Given the description of an element on the screen output the (x, y) to click on. 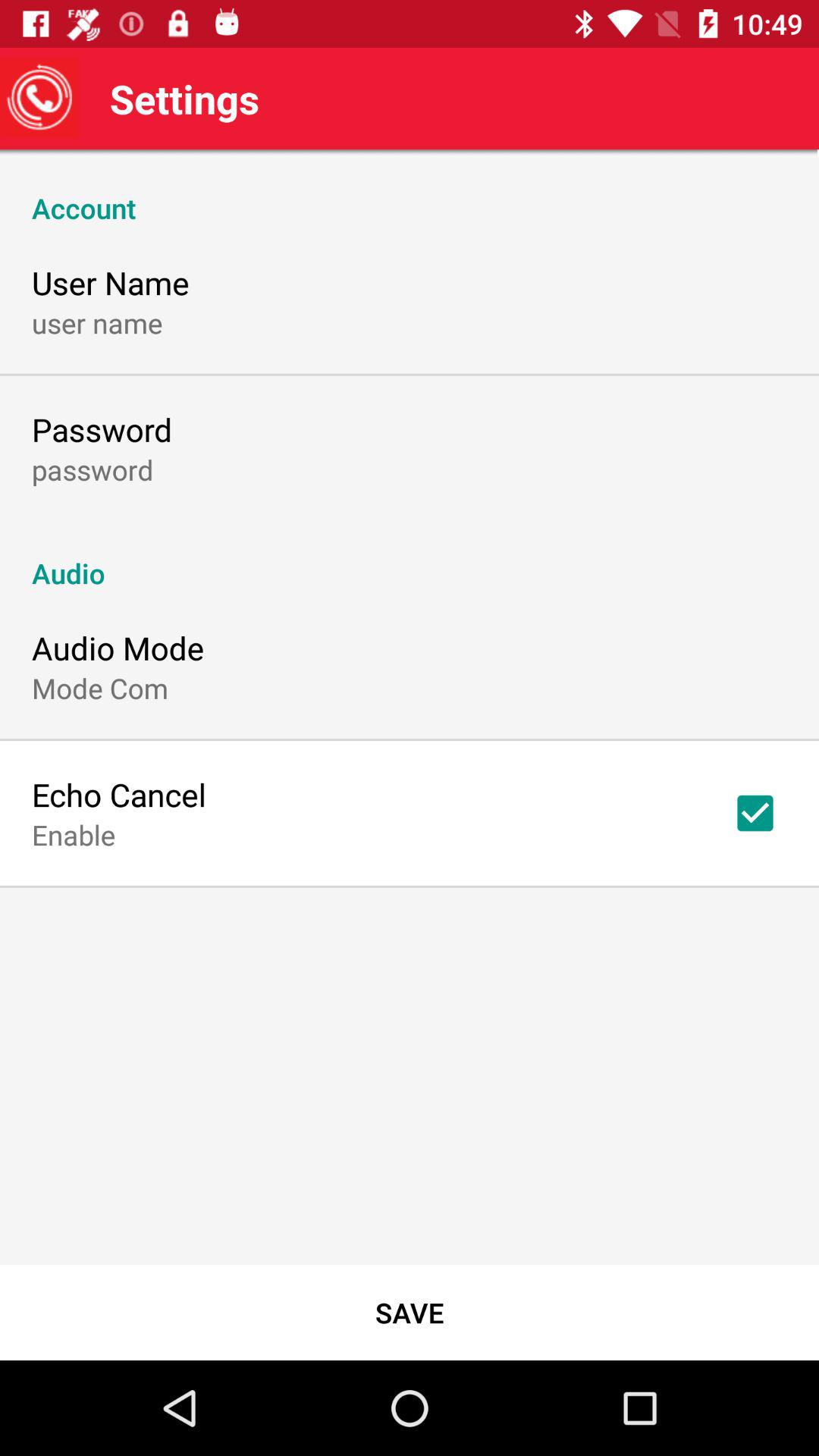
press echo cancel item (118, 794)
